Given the description of an element on the screen output the (x, y) to click on. 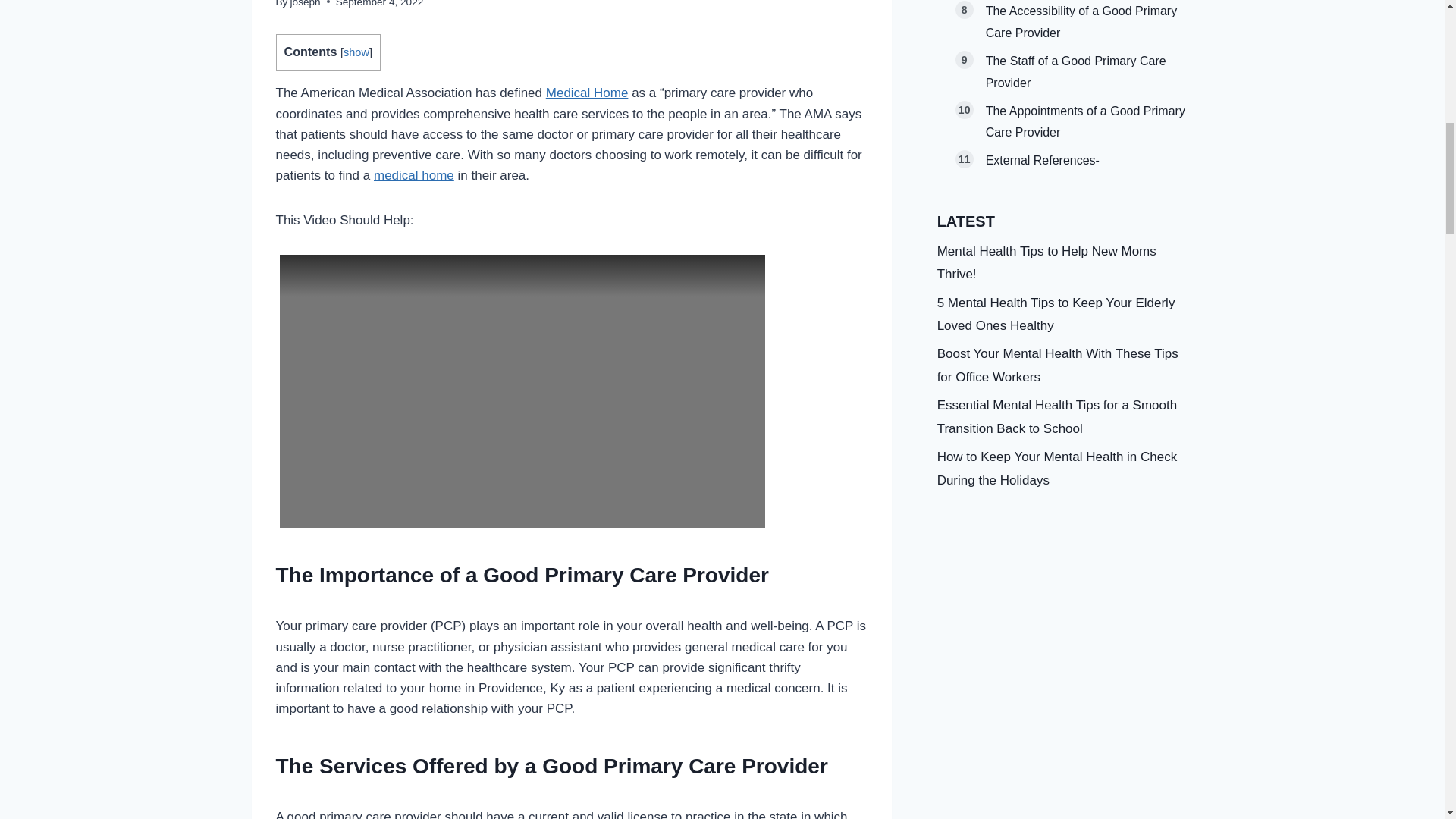
medical home (414, 175)
joseph (304, 3)
Medical Home (587, 92)
show (356, 51)
